Given the description of an element on the screen output the (x, y) to click on. 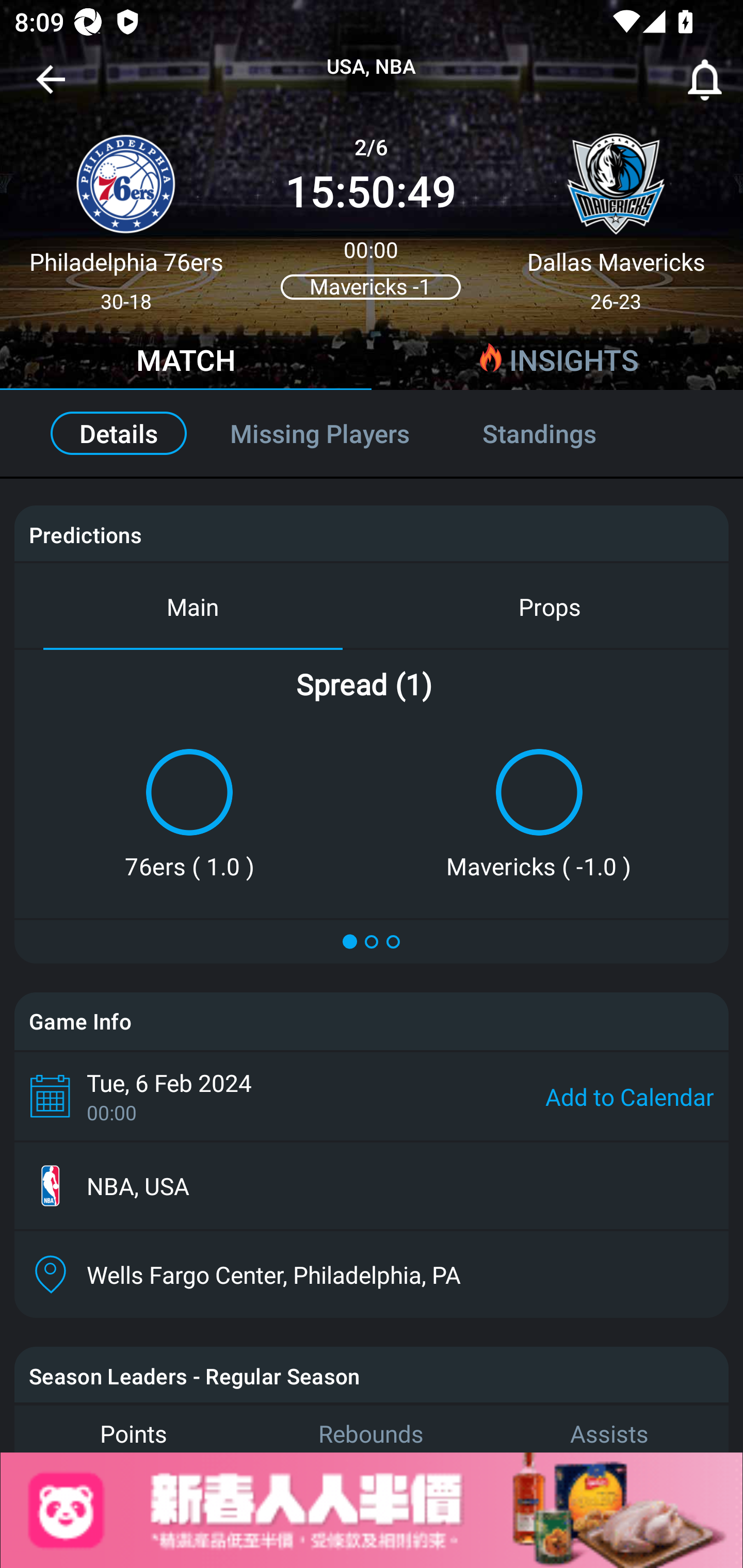
Navigate up (50, 86)
USA, NBA (371, 66)
Philadelphia 76ers 30-18 (126, 214)
Dallas Mavericks 26-23 (616, 214)
MATCH (185, 362)
INSIGHTS (557, 362)
Missing Players (319, 433)
Standings (561, 433)
Predictions (85, 534)
Props (549, 605)
Game Info (371, 1021)
Tue, 6 Feb 2024 00:00 Add to Calendar (371, 1095)
NBA, USA (371, 1186)
Wells Fargo Center, Philadelphia, PA (371, 1273)
Rebounds (371, 1427)
Assists (609, 1427)
Advertisement (371, 1509)
